Given the description of an element on the screen output the (x, y) to click on. 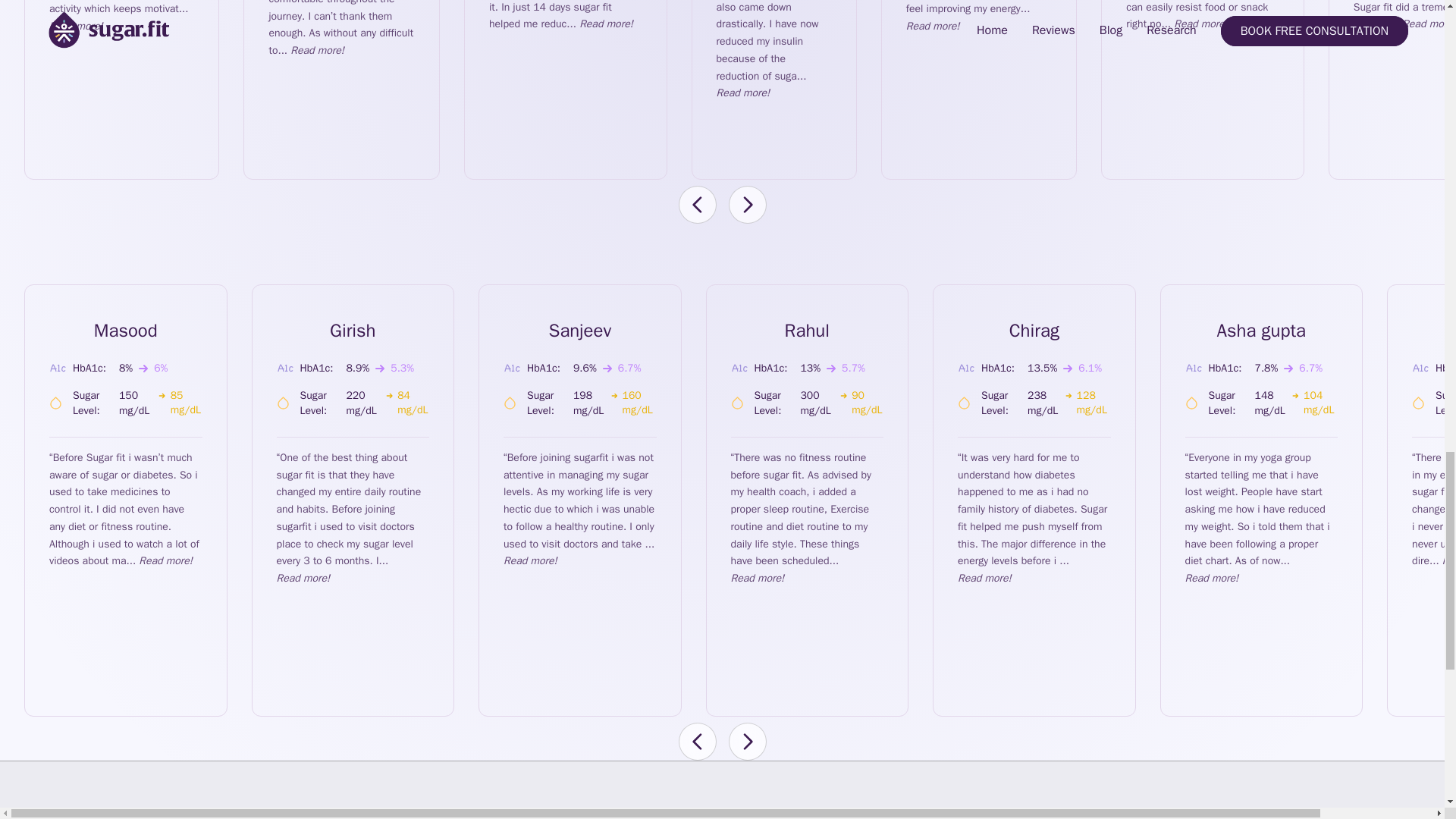
Read more! (76, 25)
Read more! (932, 25)
Read more! (1200, 23)
Read more! (316, 50)
Read more! (743, 92)
Read more! (1429, 23)
Read more! (606, 23)
